Given the description of an element on the screen output the (x, y) to click on. 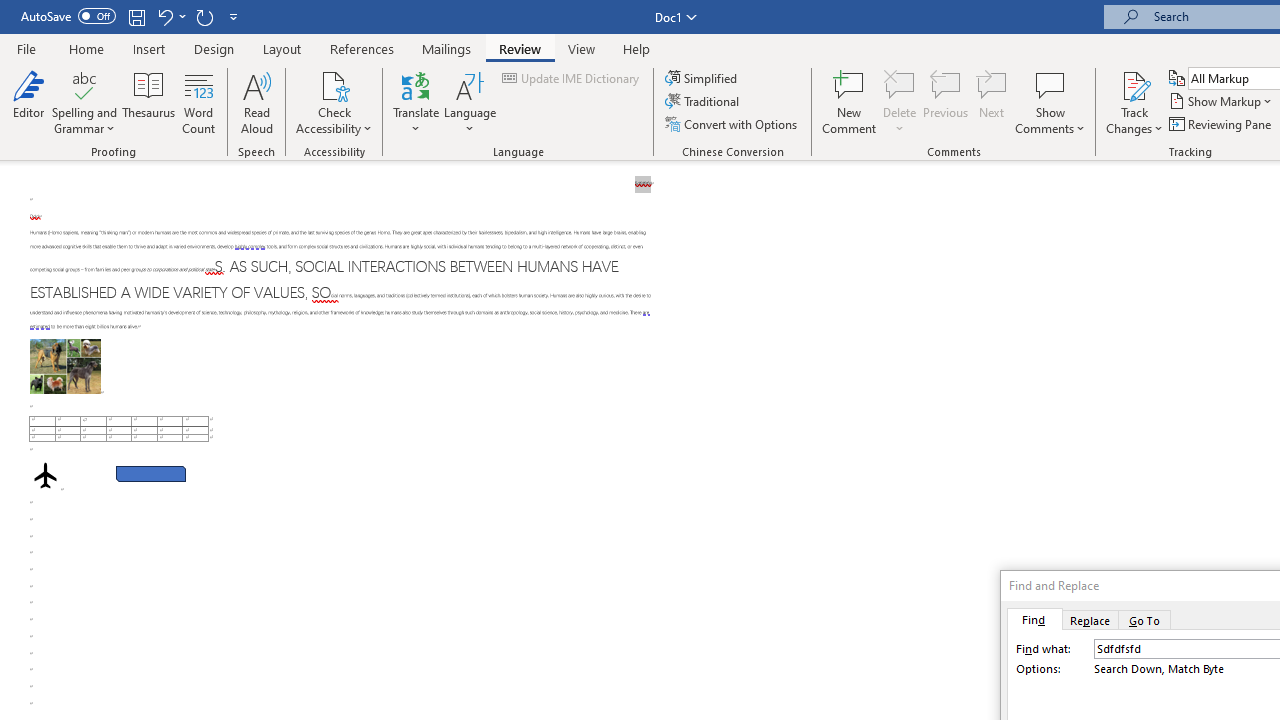
Undo Paragraph Alignment (170, 15)
Airplane with solid fill (45, 475)
Simplified (702, 78)
Convert with Options... (732, 124)
